Given the description of an element on the screen output the (x, y) to click on. 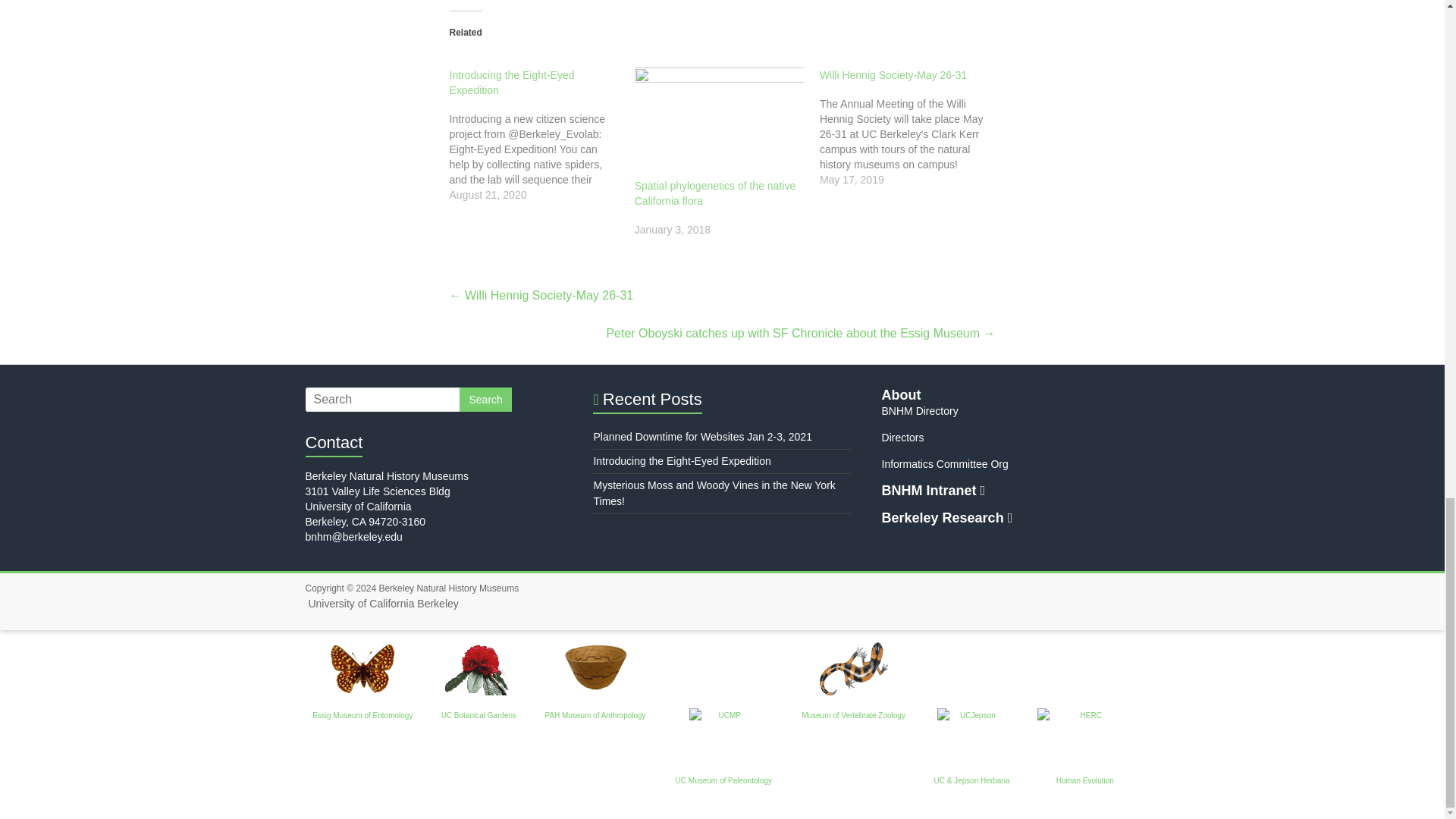
Willi Hennig Society-May 26-31 (893, 74)
Introducing the Eight-Eyed Expedition (510, 82)
Spatial phylogenetics of the native California flora (714, 193)
Willi Hennig Society-May 26-31 (911, 127)
Spatial phylogenetics of the native California flora (719, 115)
Berkeley Natural History Museums (448, 588)
Search (485, 399)
Introducing the Eight-Eyed Expedition (540, 134)
